Given the description of an element on the screen output the (x, y) to click on. 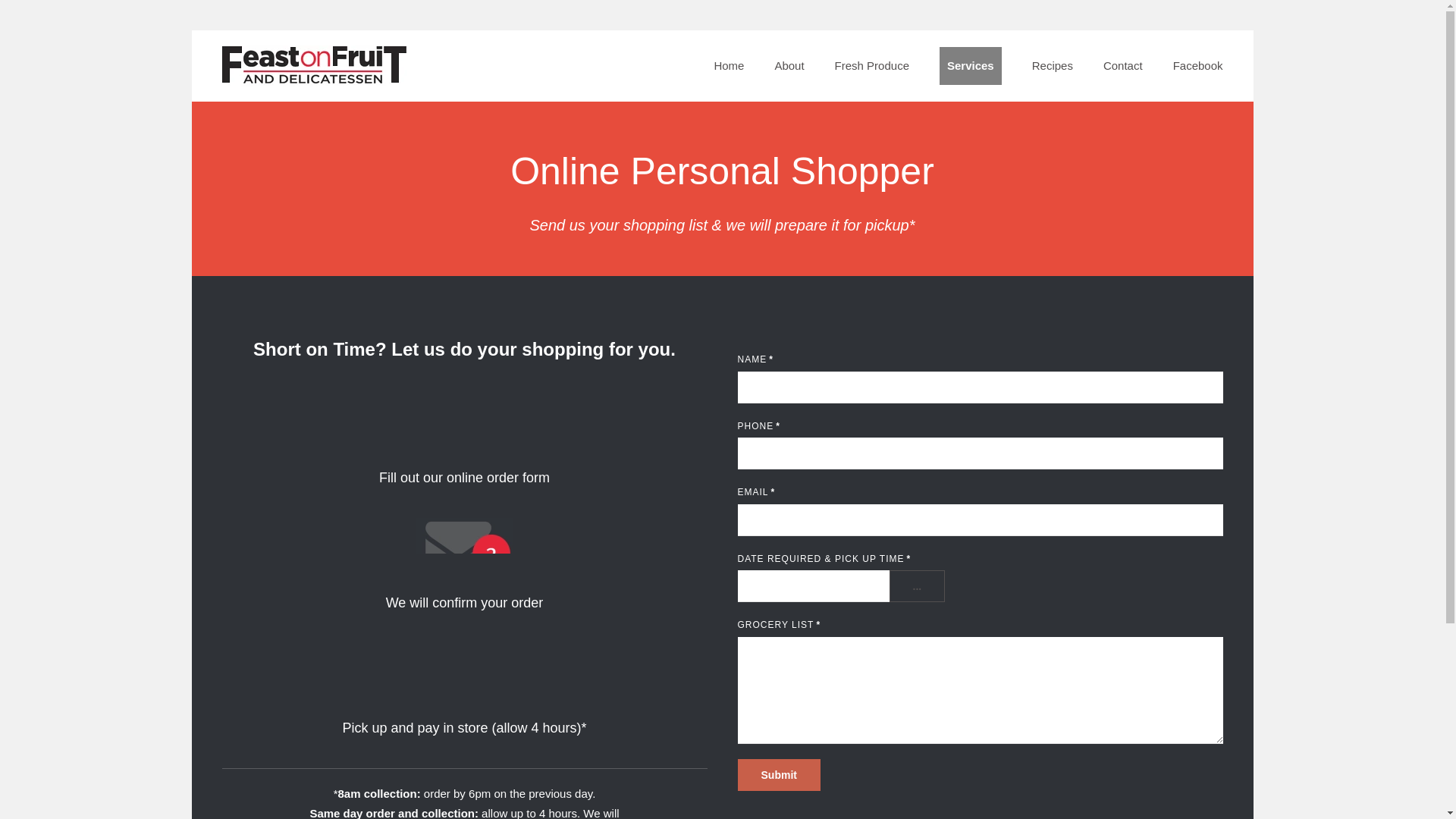
About Element type: text (788, 65)
Fresh Produce Element type: text (871, 65)
Facebook Element type: text (1198, 65)
Submit Element type: text (778, 774)
Services Element type: text (970, 65)
... Element type: text (916, 586)
Home Element type: text (728, 65)
Contact Element type: text (1122, 65)
Recipes Element type: text (1052, 65)
Fill out our online order form Element type: text (463, 439)
We will confirm your order Element type: text (463, 564)
Pick up and pay in store (allow 4 hours)* Element type: text (463, 690)
